Given the description of an element on the screen output the (x, y) to click on. 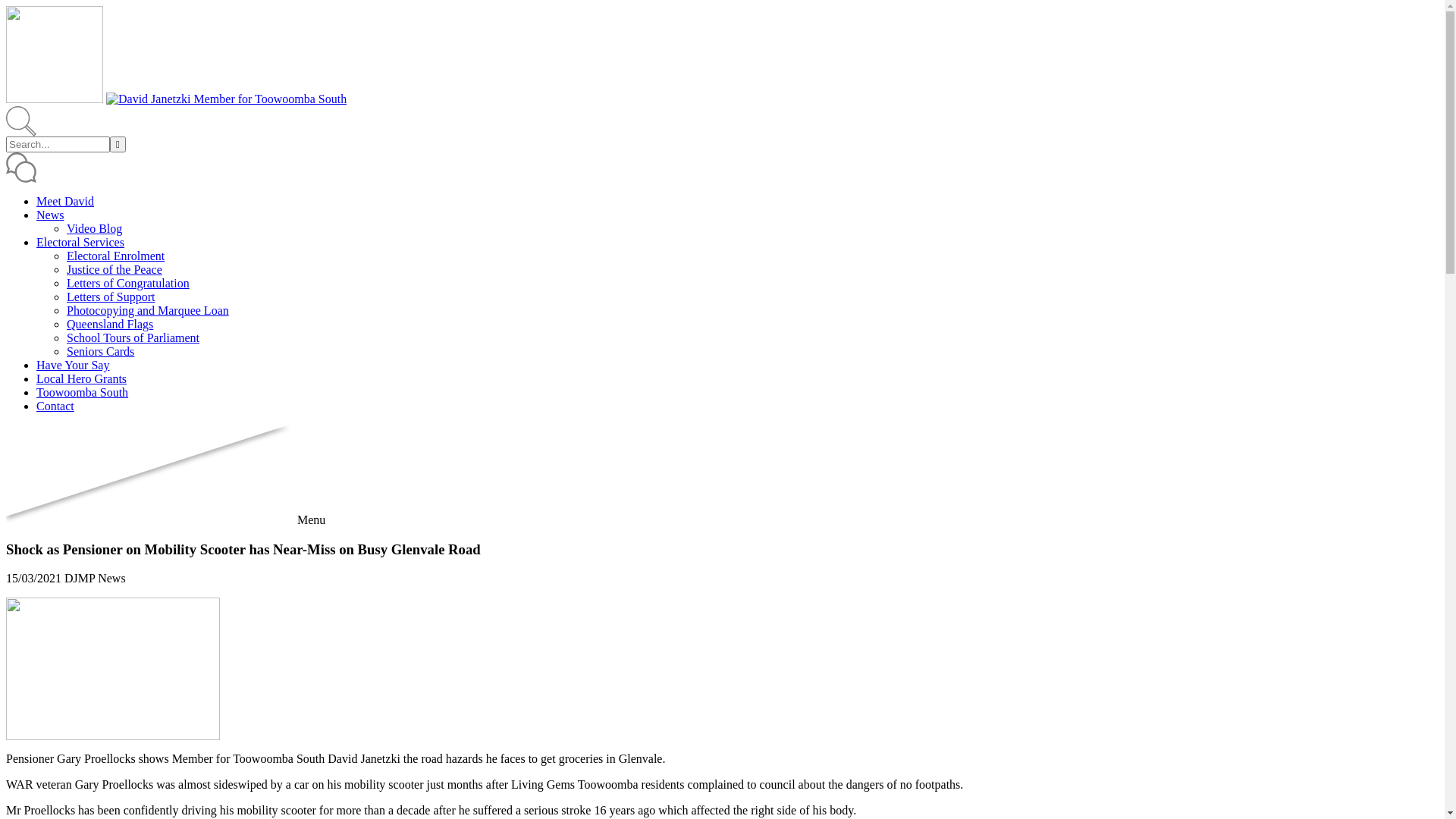
Queensland Flags Element type: text (109, 323)
News Element type: text (49, 214)
Electoral Enrolment Element type: text (115, 255)
Photocopying and Marquee Loan Element type: text (147, 310)
School Tours of Parliament Element type: text (132, 337)
Contact Element type: text (55, 405)
Justice of the Peace Element type: text (114, 269)
Local Hero Grants Element type: text (81, 378)
Letters of Congratulation Element type: text (127, 282)
Electoral Services Element type: text (80, 241)
Meet David Element type: text (65, 200)
Seniors Cards Element type: text (100, 351)
Letters of Support Element type: text (110, 296)
Toowoomba South Element type: text (82, 391)
Have Your Say Element type: text (72, 364)
Video Blog Element type: text (94, 228)
